Given the description of an element on the screen output the (x, y) to click on. 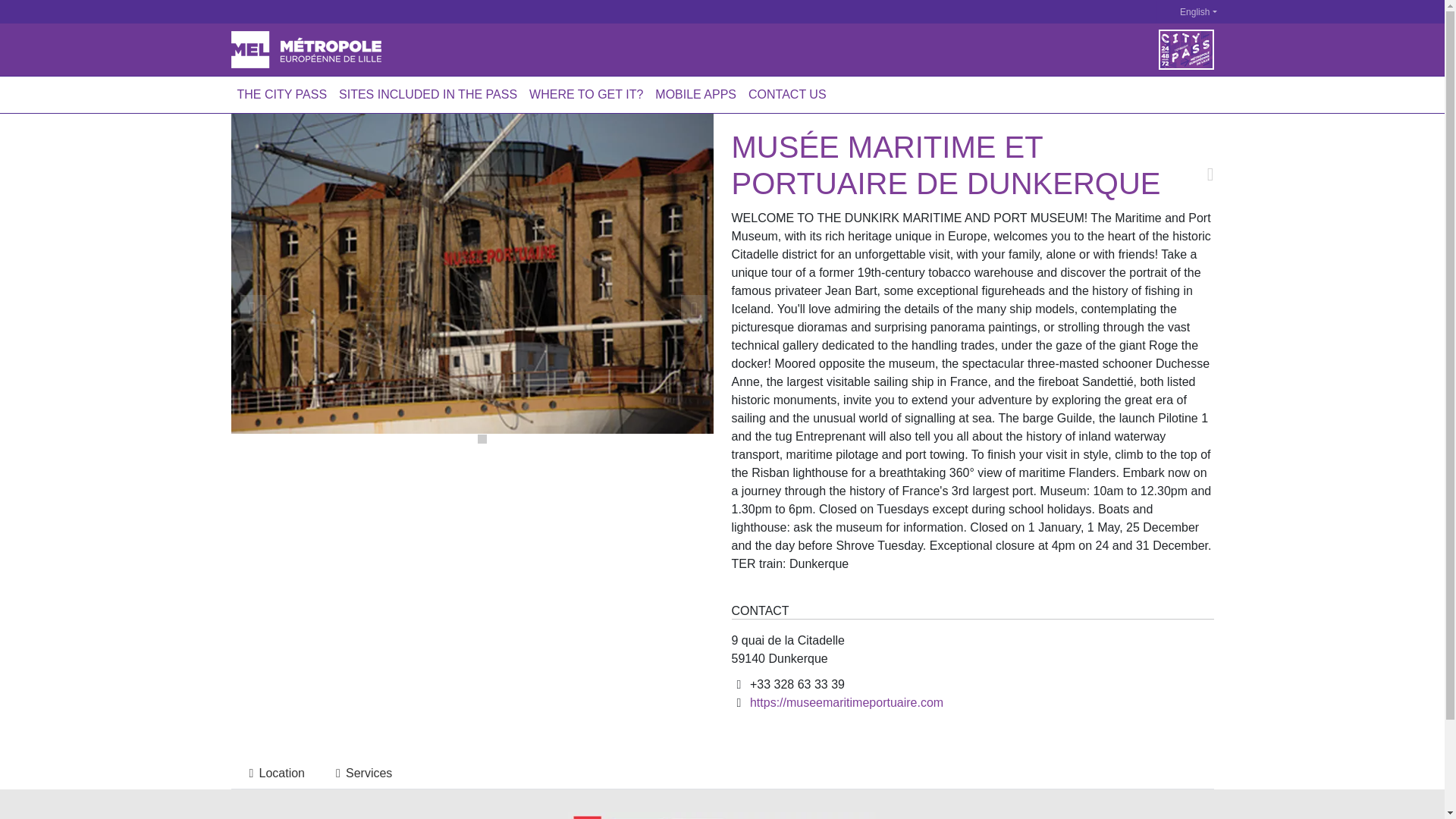
MOBILE APPS (695, 94)
Location (273, 773)
 English (1189, 11)
WHERE TO GET IT? (585, 94)
Lille City Pass (305, 49)
CONTACT US (787, 94)
SITES INCLUDED IN THE PASS (427, 94)
THE CITY PASS (281, 94)
Services (360, 773)
